Given the description of an element on the screen output the (x, y) to click on. 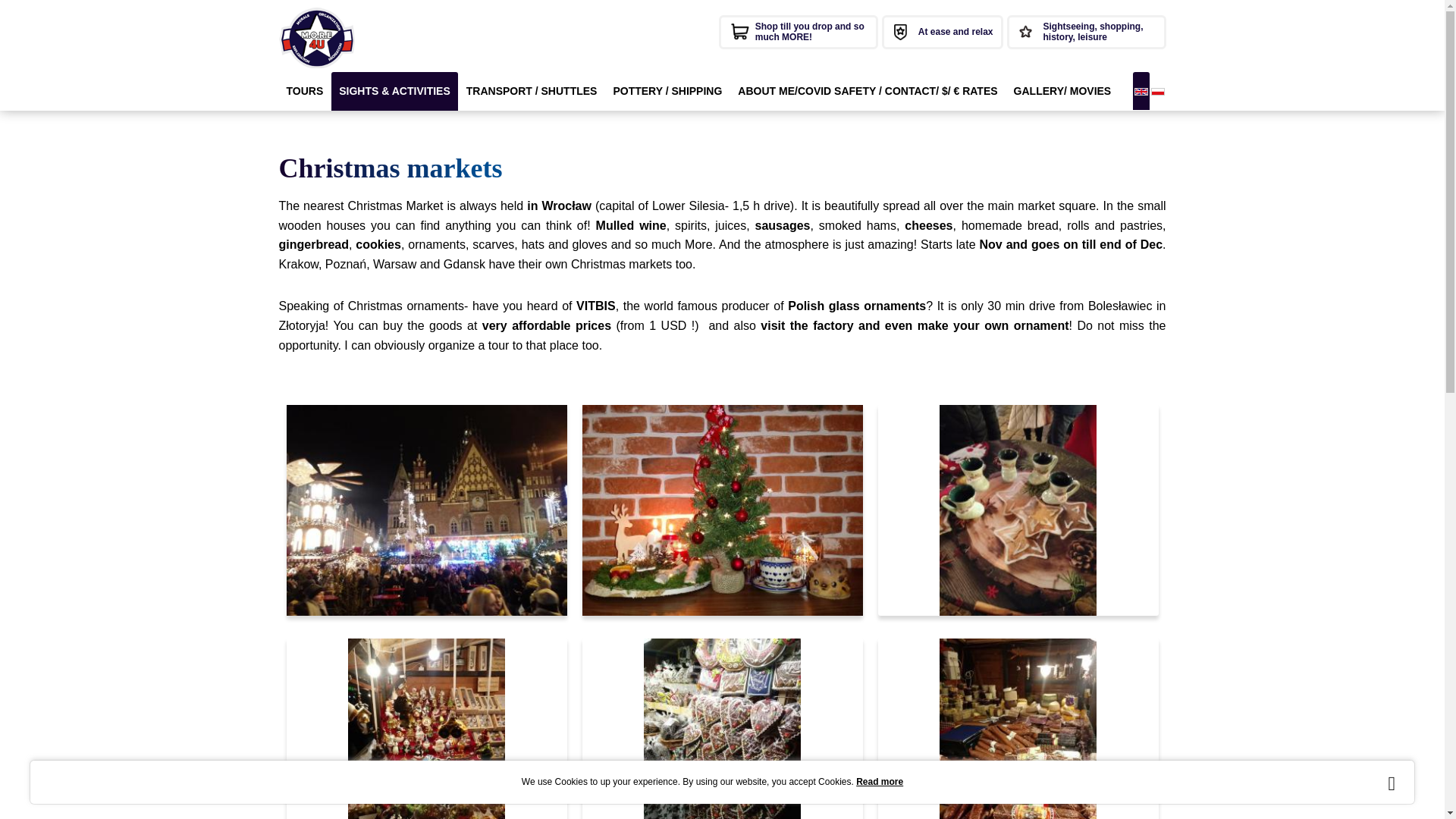
Sightseeing, shopping, history, leisure (1086, 32)
more4utours.com.pl (317, 37)
TOURS (305, 91)
At ease and relax (942, 32)
Shop till you drop and so much MORE! (798, 32)
